Given the description of an element on the screen output the (x, y) to click on. 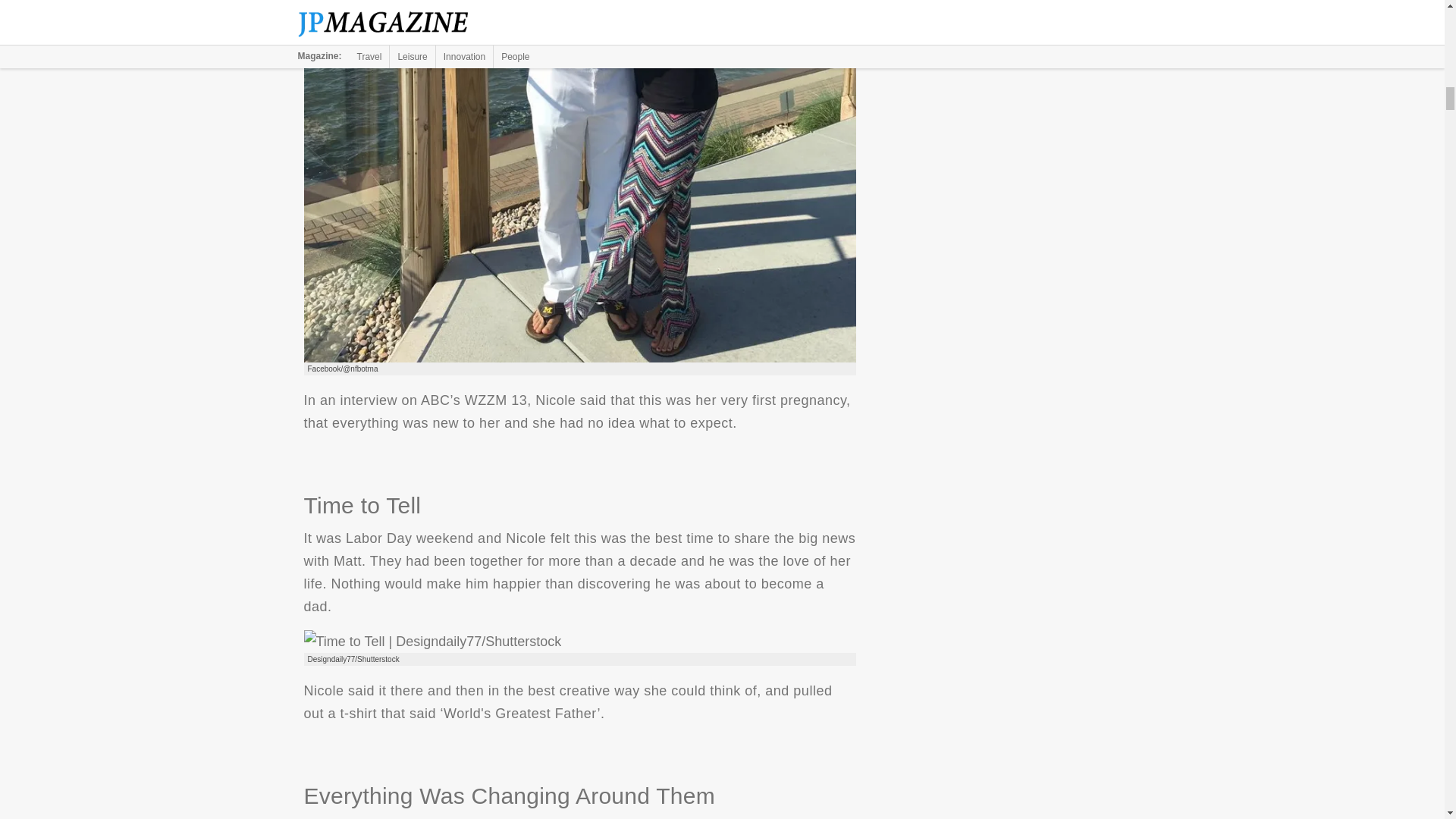
Time to Tell (431, 640)
